Given the description of an element on the screen output the (x, y) to click on. 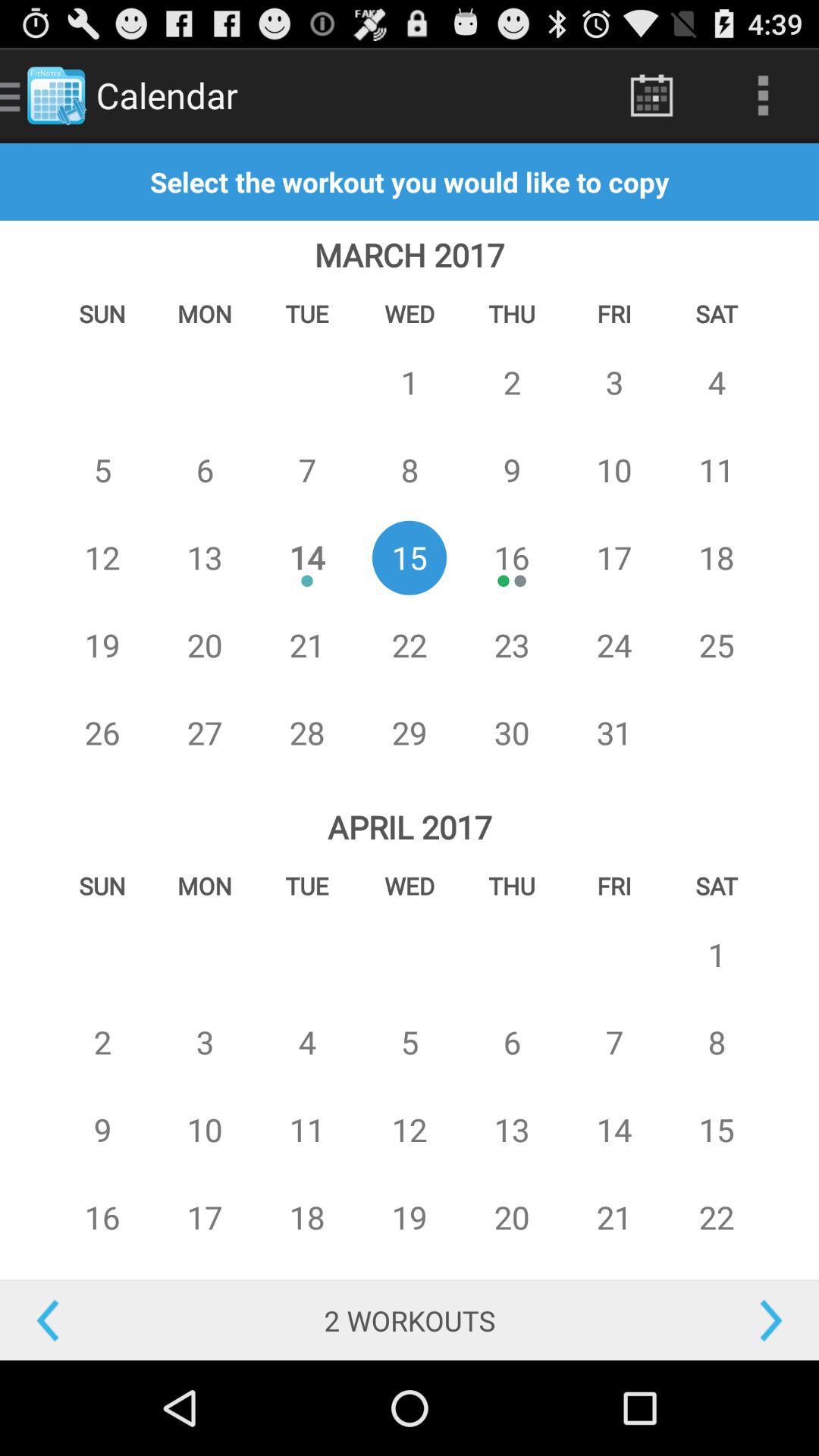
go back (102, 1320)
